Given the description of an element on the screen output the (x, y) to click on. 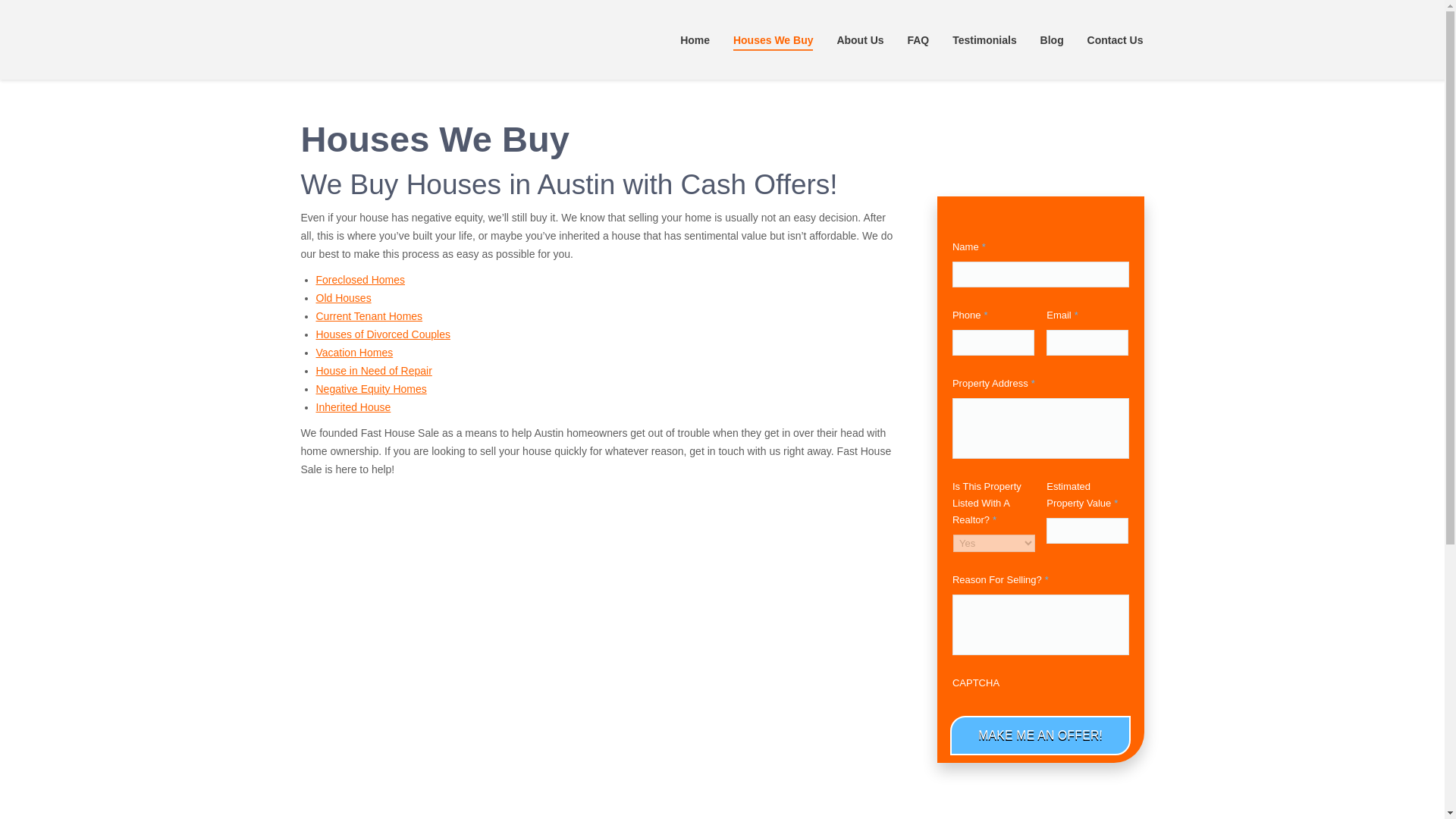
About Us (859, 39)
Contact Us (1115, 39)
Vacation Homes (354, 352)
Houses We Buy (772, 39)
House in Need of Repair (372, 370)
Blog (1051, 39)
Home (694, 39)
Inherited House (352, 407)
FAQ (917, 39)
Old Houses (343, 297)
